Given the description of an element on the screen output the (x, y) to click on. 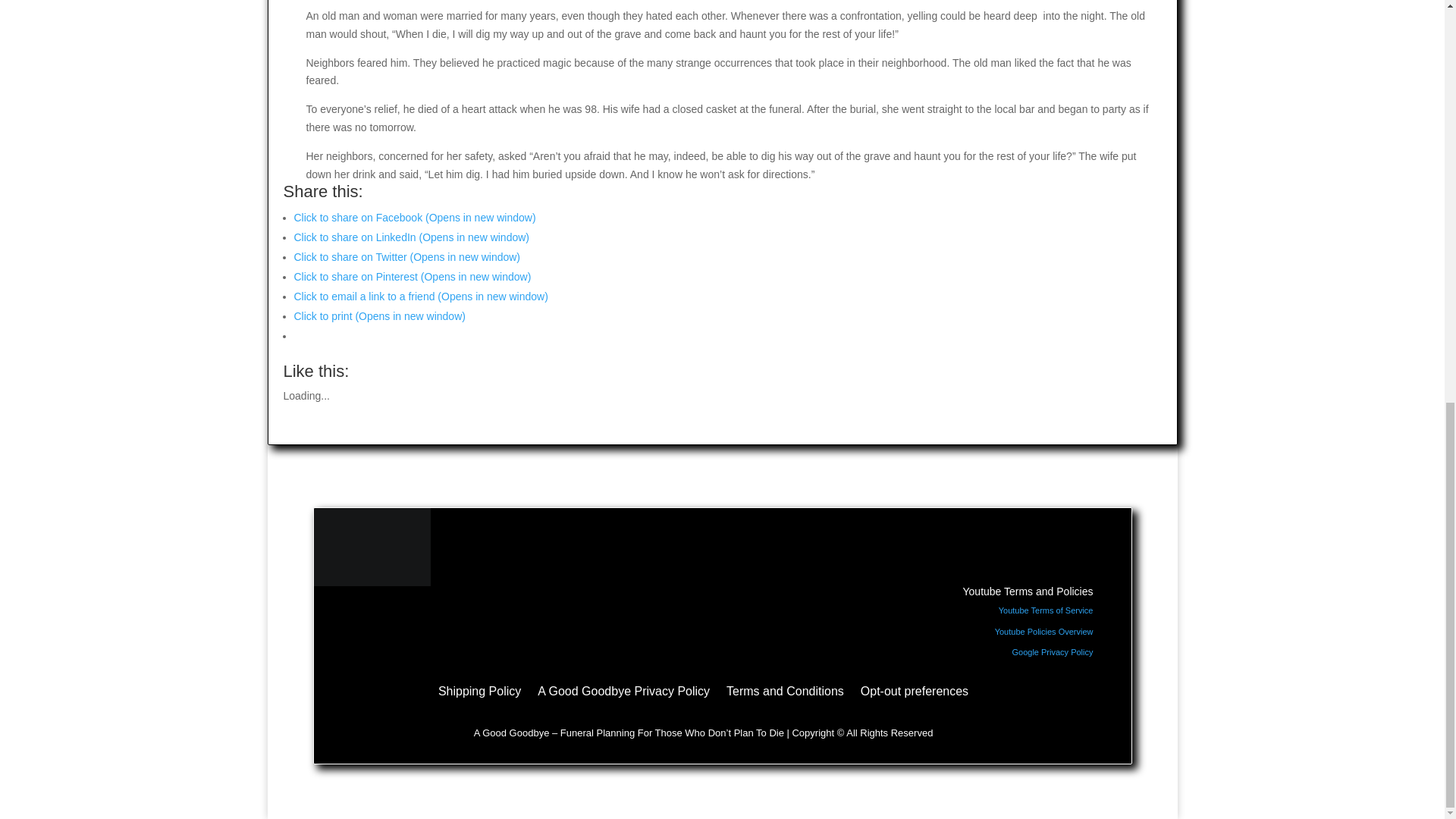
Click to share on Twitter (407, 256)
Click to share on Facebook (414, 217)
Click to print (379, 316)
Click to share on Pinterest (412, 276)
Click to share on LinkedIn (411, 236)
Click to email a link to a friend (421, 296)
